Given the description of an element on the screen output the (x, y) to click on. 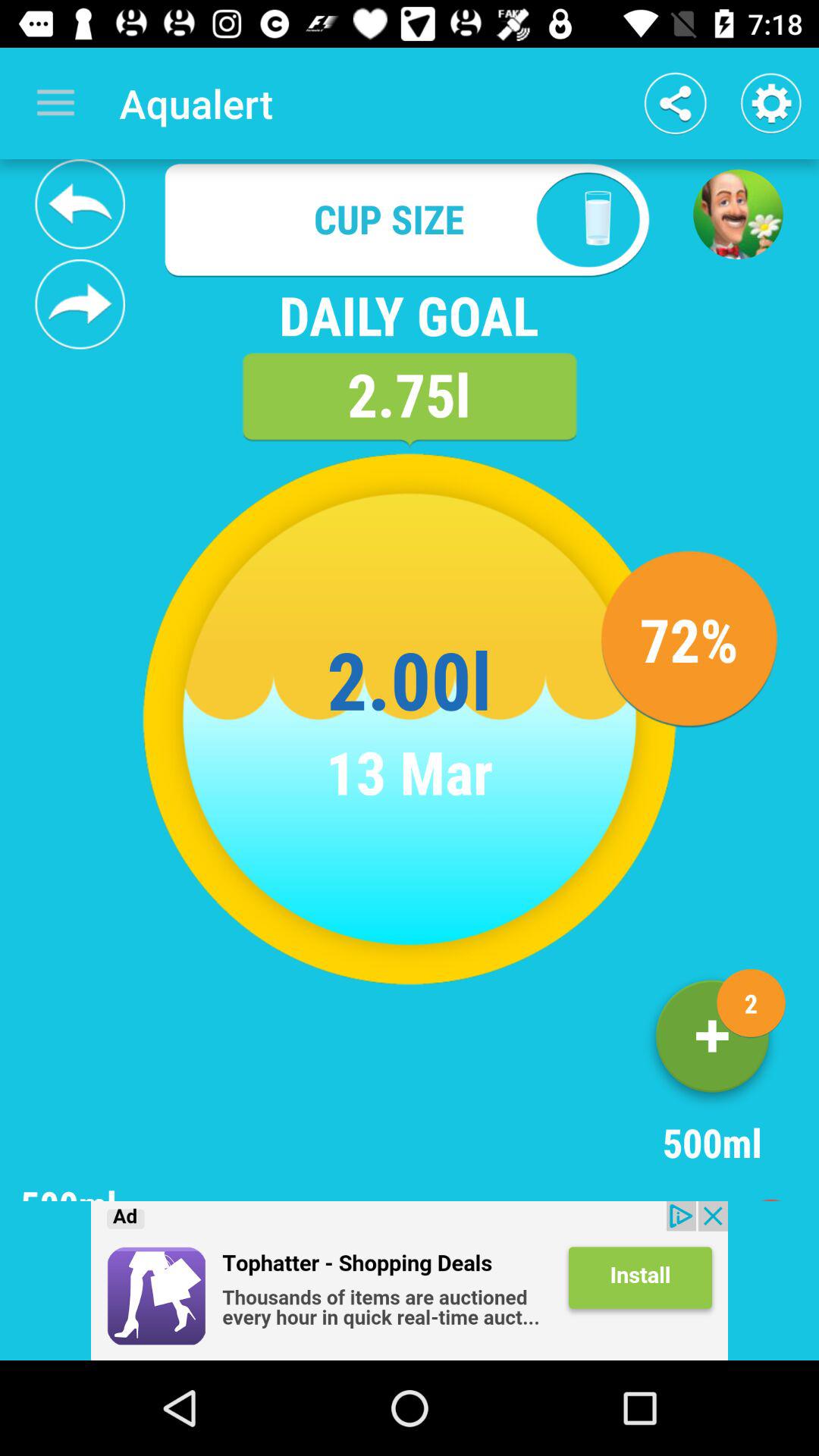
advertisement (409, 1280)
